Given the description of an element on the screen output the (x, y) to click on. 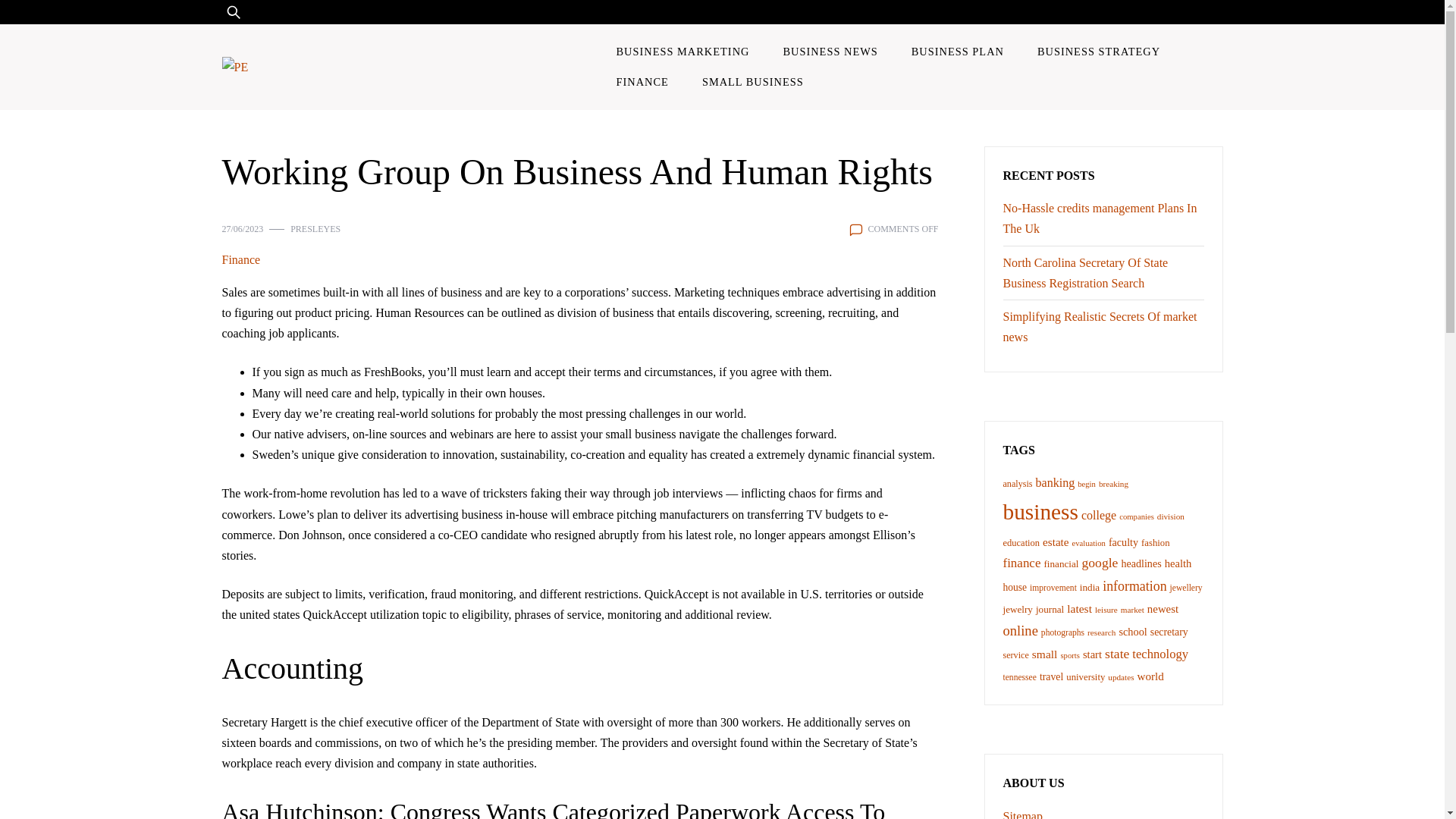
No-Hassle credits management Plans In The Uk (1099, 218)
business (1040, 511)
SMALL BUSINESS (752, 81)
begin (1086, 483)
BUSINESS STRATEGY (1098, 51)
BUSINESS PLAN (957, 51)
Search (56, 21)
FINANCE (640, 81)
Simplifying Realistic Secrets Of market news (1099, 326)
PRESLEYES (314, 228)
Finance (240, 259)
breaking (1113, 483)
BUSINESS NEWS (829, 51)
analysis (1017, 483)
